Given the description of an element on the screen output the (x, y) to click on. 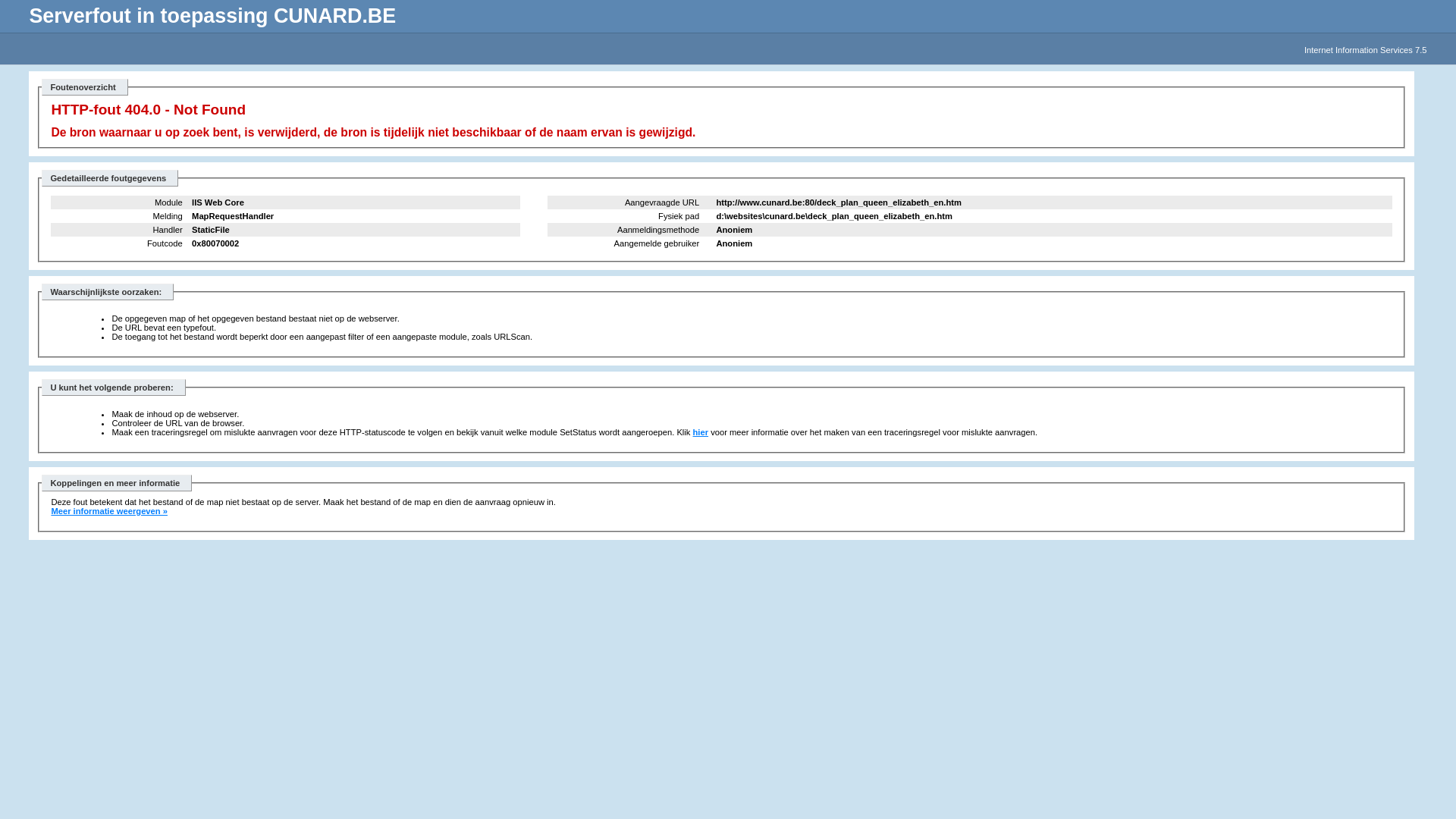
hier Element type: text (701, 431)
